Given the description of an element on the screen output the (x, y) to click on. 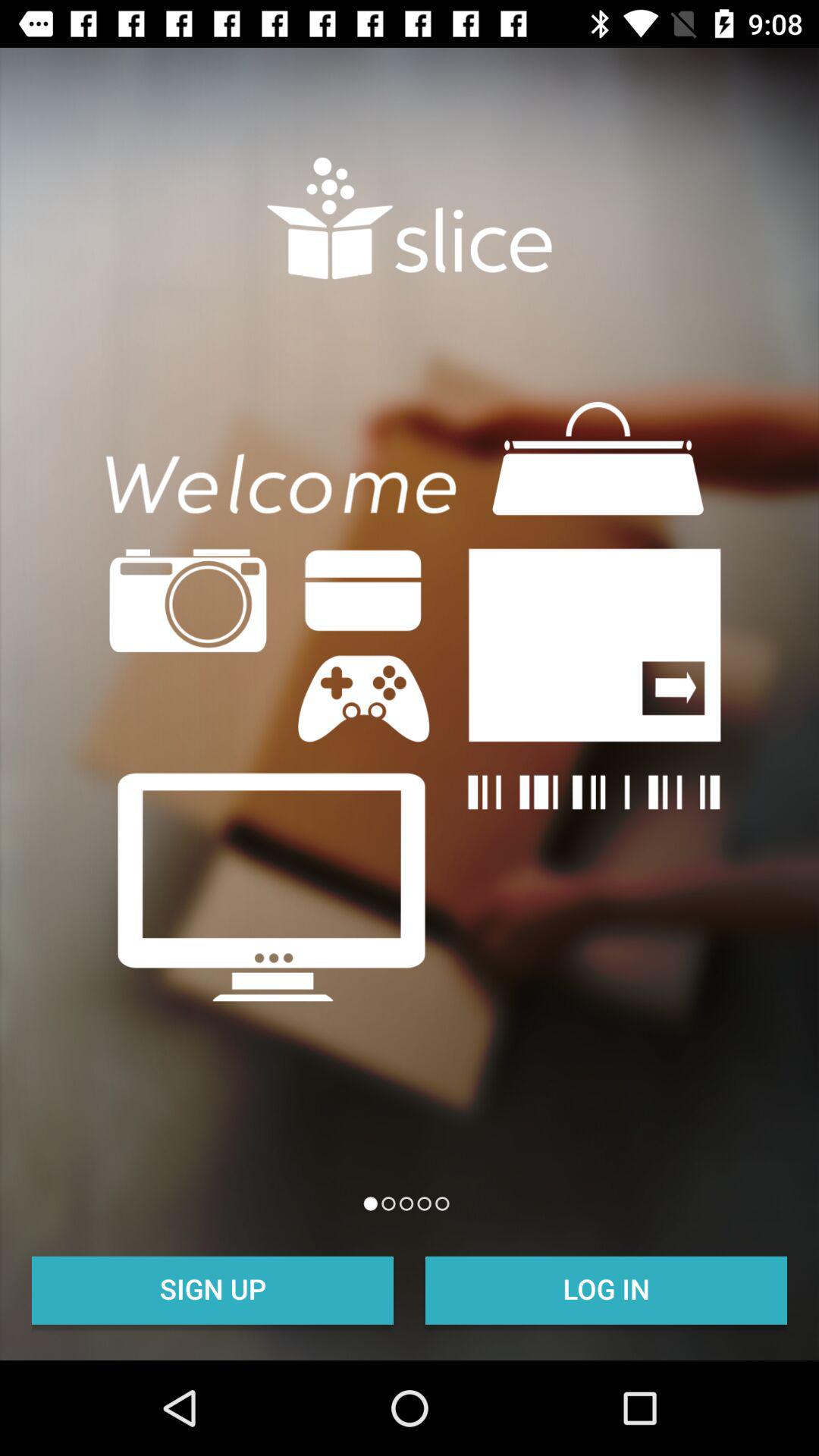
turn off the item at the bottom left corner (212, 1288)
